Given the description of an element on the screen output the (x, y) to click on. 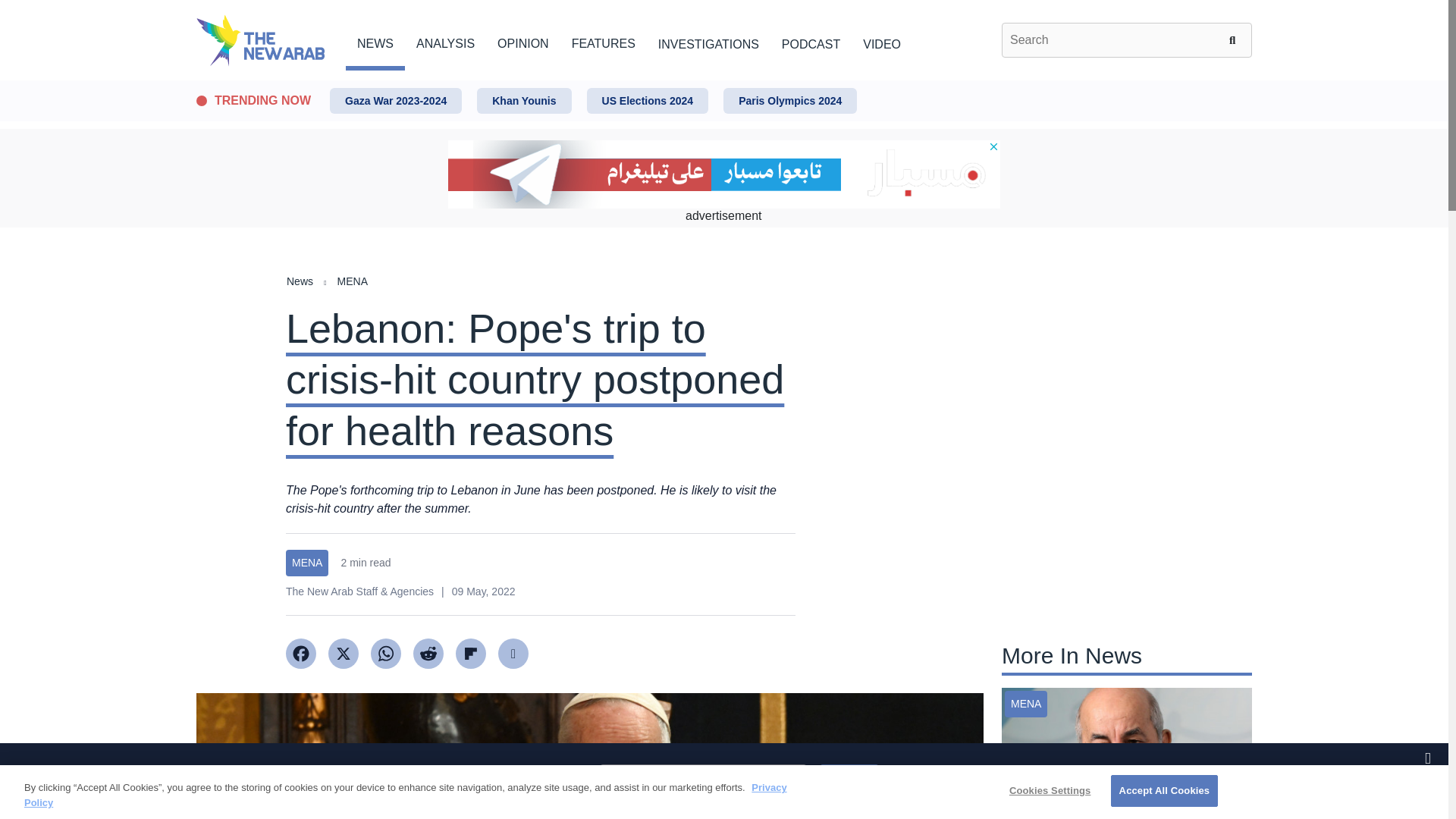
OPINION (523, 41)
ANALYSIS (445, 41)
Search (1234, 39)
NEWS (375, 41)
Skip to main content (724, 81)
